Given the description of an element on the screen output the (x, y) to click on. 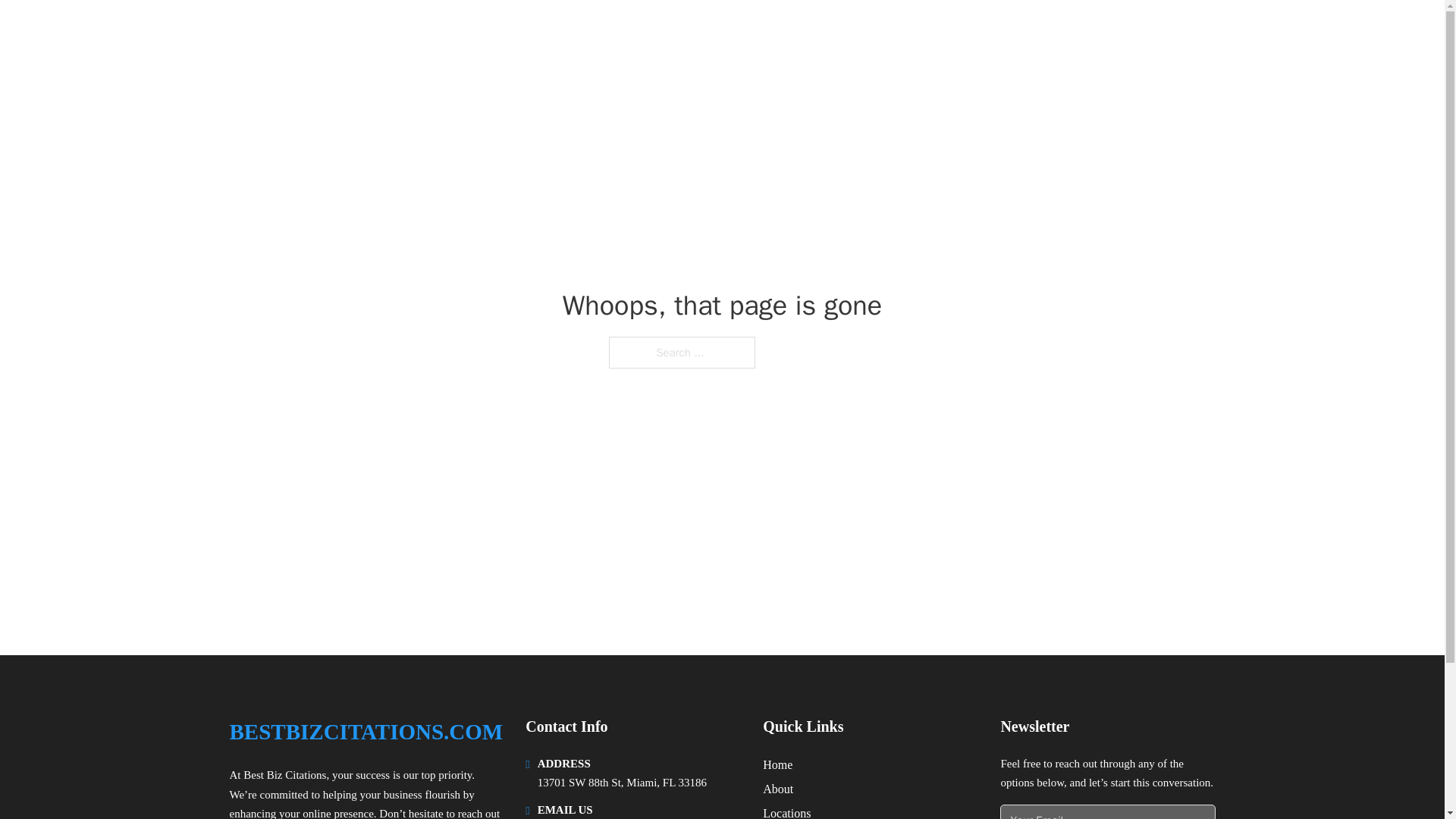
BESTBIZCITATIONS.COM (365, 732)
HOME (1025, 31)
LOCATIONS (1098, 31)
Home (777, 764)
BESTBIZCITATIONS.COM (379, 31)
Locations (786, 811)
About (777, 788)
